Given the description of an element on the screen output the (x, y) to click on. 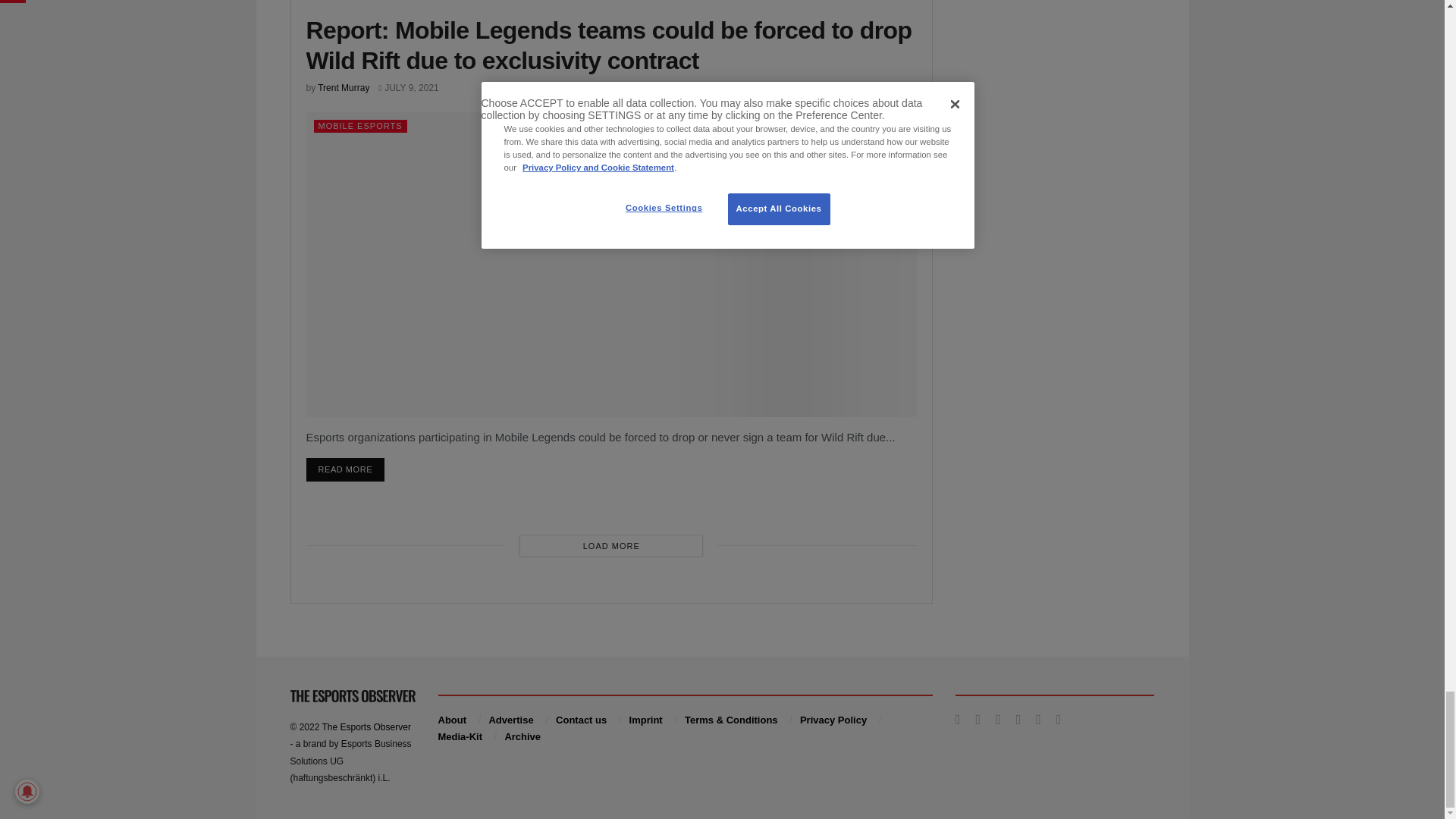
Copyright Esports Business Solutions UG (365, 726)
